Given the description of an element on the screen output the (x, y) to click on. 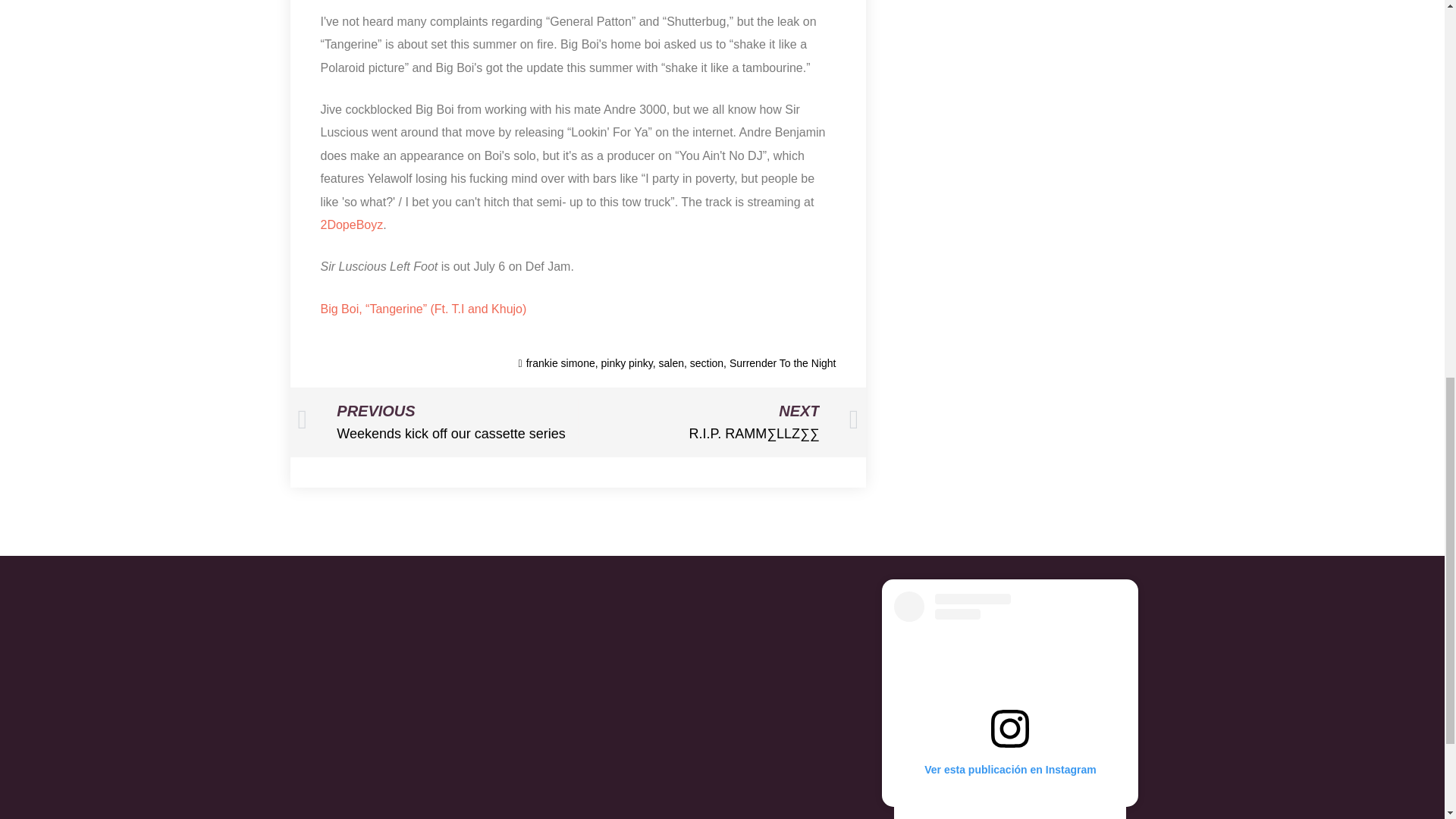
Surrender To the Night (782, 363)
frankie simone (560, 363)
2DopeBoyz (351, 224)
salen (670, 363)
Twitter Timeline (436, 421)
pinky pinky (721, 691)
section (625, 363)
